Given the description of an element on the screen output the (x, y) to click on. 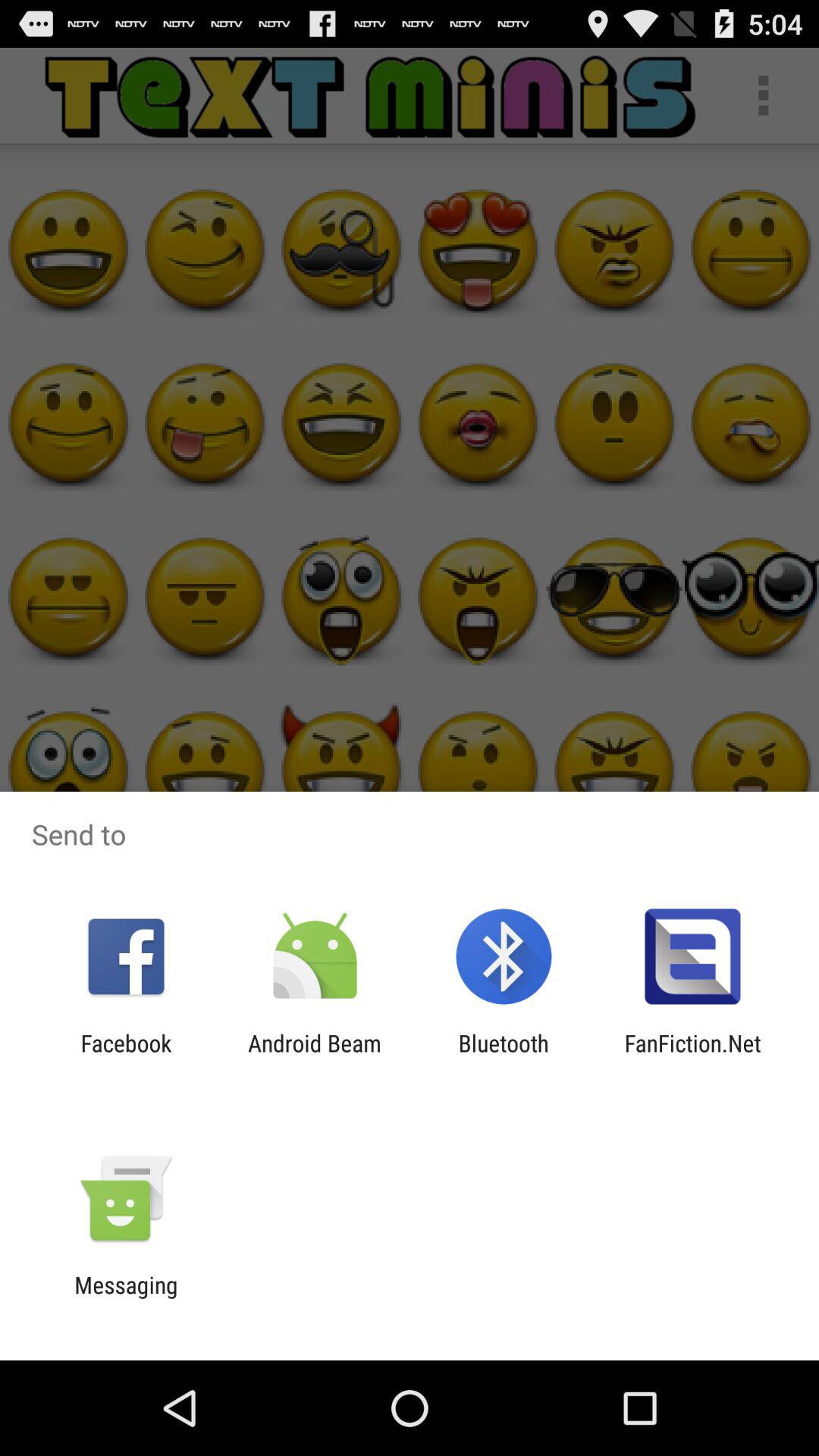
launch the facebook icon (125, 1056)
